Given the description of an element on the screen output the (x, y) to click on. 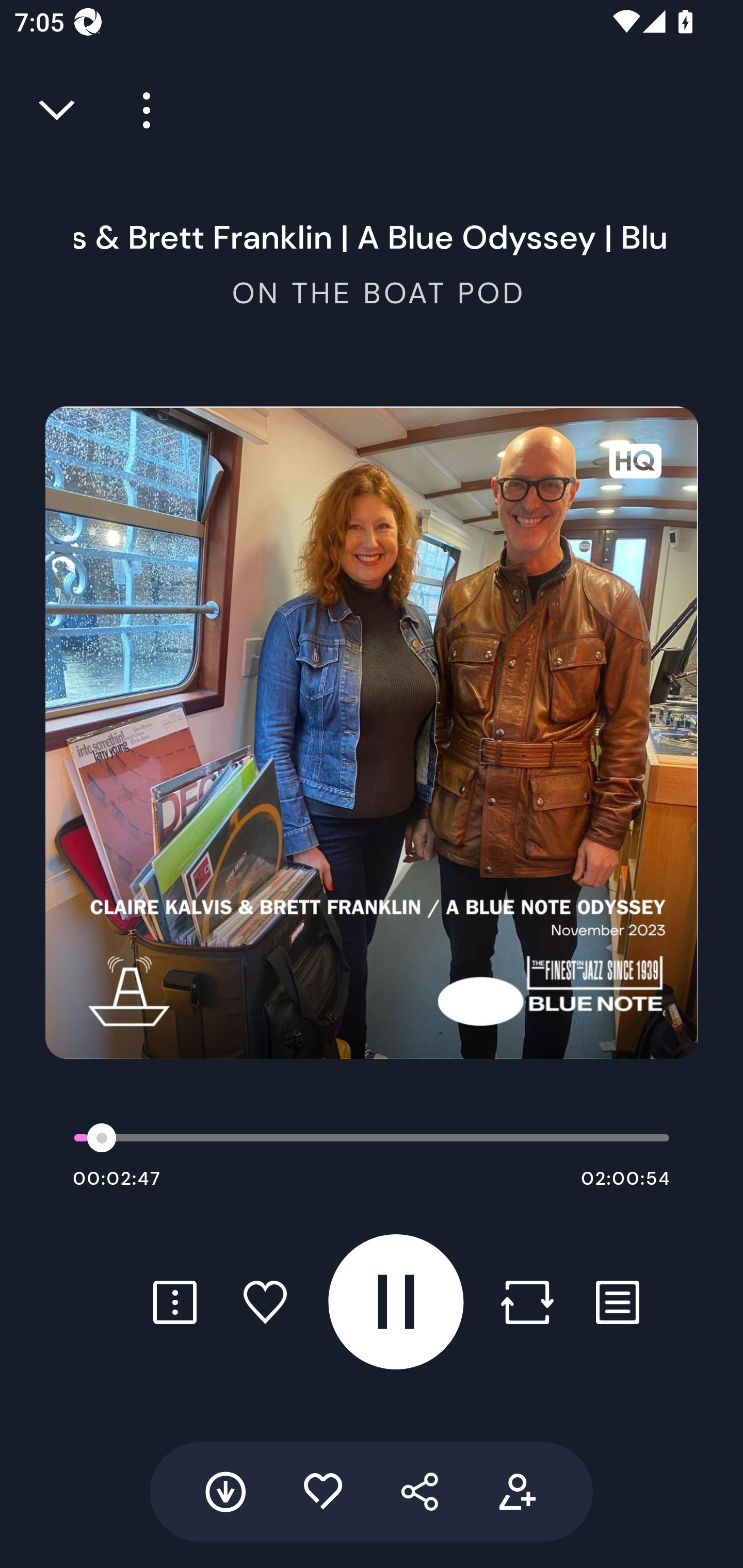
Close full player (58, 110)
Player more options button (139, 110)
Repost button (527, 1301)
